Given the description of an element on the screen output the (x, y) to click on. 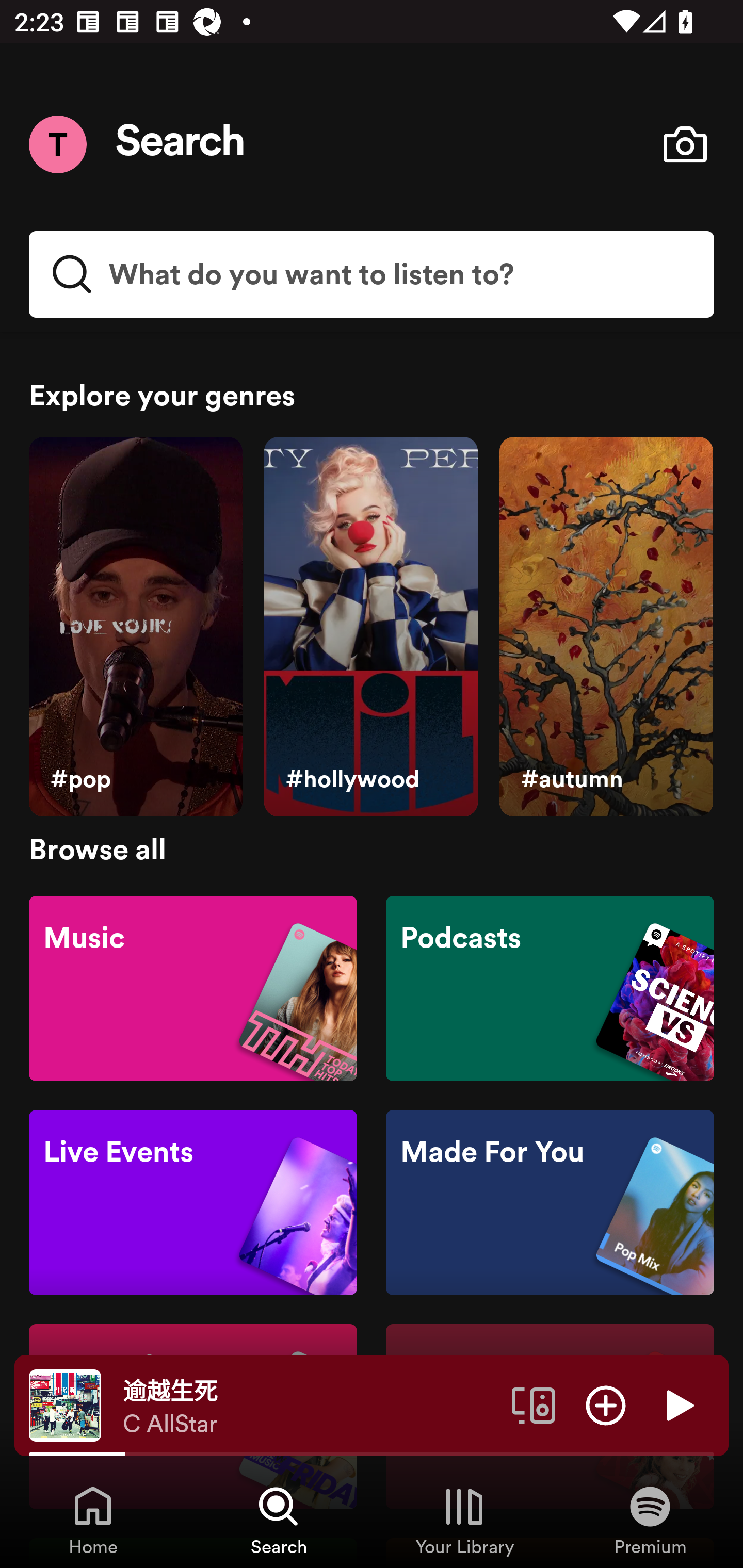
Menu (57, 144)
Open camera (685, 145)
Search (180, 144)
#pop (135, 626)
#hollywood (370, 626)
#autumn (606, 626)
Music (192, 987)
Podcasts (549, 987)
Live Events (192, 1202)
Made For You (549, 1202)
逾越生死 C AllStar (309, 1405)
The cover art of the currently playing track (64, 1404)
Connect to a device. Opens the devices menu (533, 1404)
Add item (605, 1404)
Play (677, 1404)
Home, Tab 1 of 4 Home Home (92, 1519)
Search, Tab 2 of 4 Search Search (278, 1519)
Your Library, Tab 3 of 4 Your Library Your Library (464, 1519)
Premium, Tab 4 of 4 Premium Premium (650, 1519)
